Given the description of an element on the screen output the (x, y) to click on. 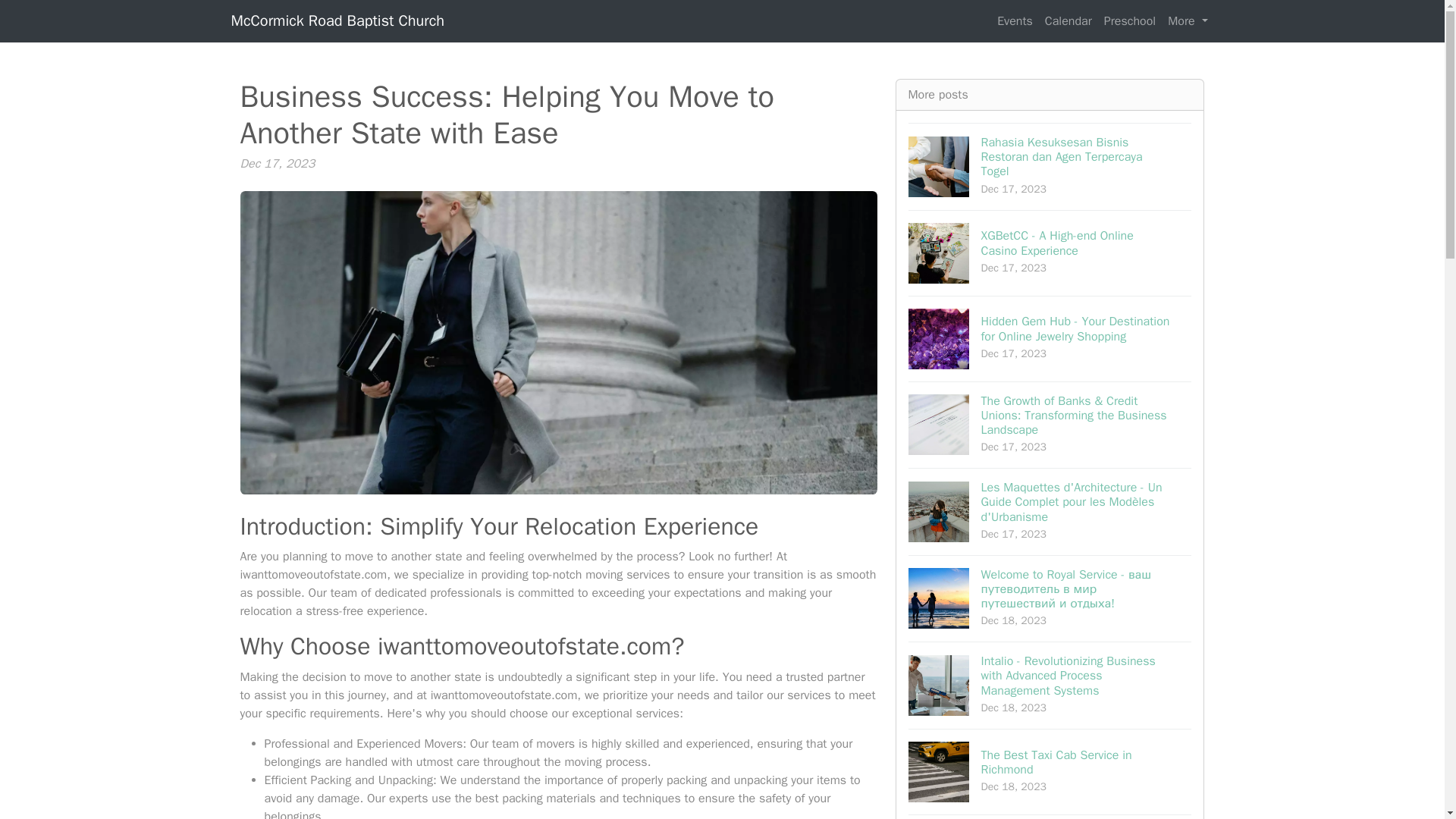
Events (1015, 20)
Calendar (1050, 771)
More (1050, 252)
Preschool (1068, 20)
McCormick Road Baptist Church (1186, 20)
